Given the description of an element on the screen output the (x, y) to click on. 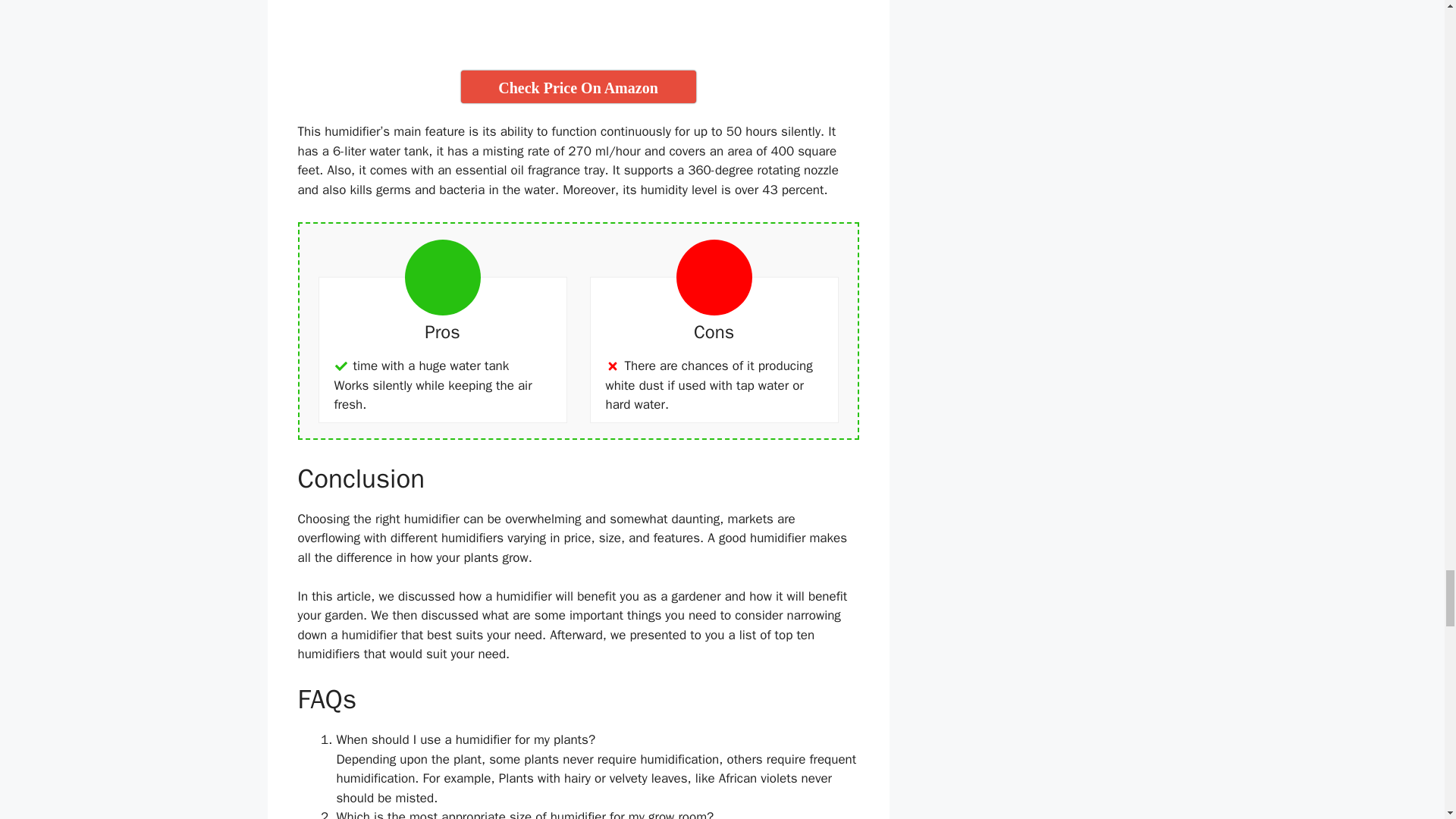
Check Price On Amazon (578, 85)
